Given the description of an element on the screen output the (x, y) to click on. 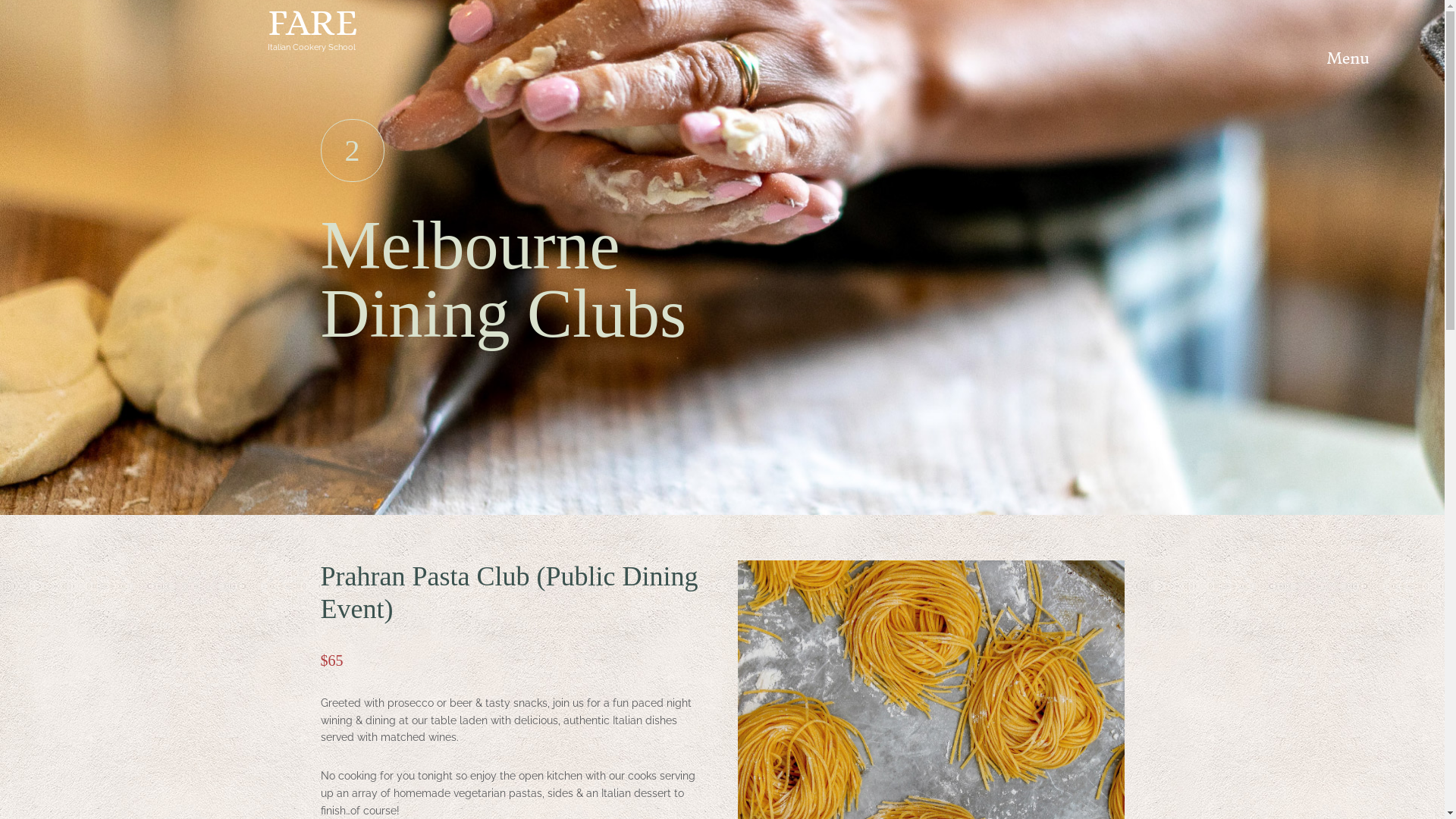
Menu Element type: text (1347, 66)
SKIP TO MAIN CONTENT Element type: text (0, 0)
FARE Element type: text (311, 22)
